Given the description of an element on the screen output the (x, y) to click on. 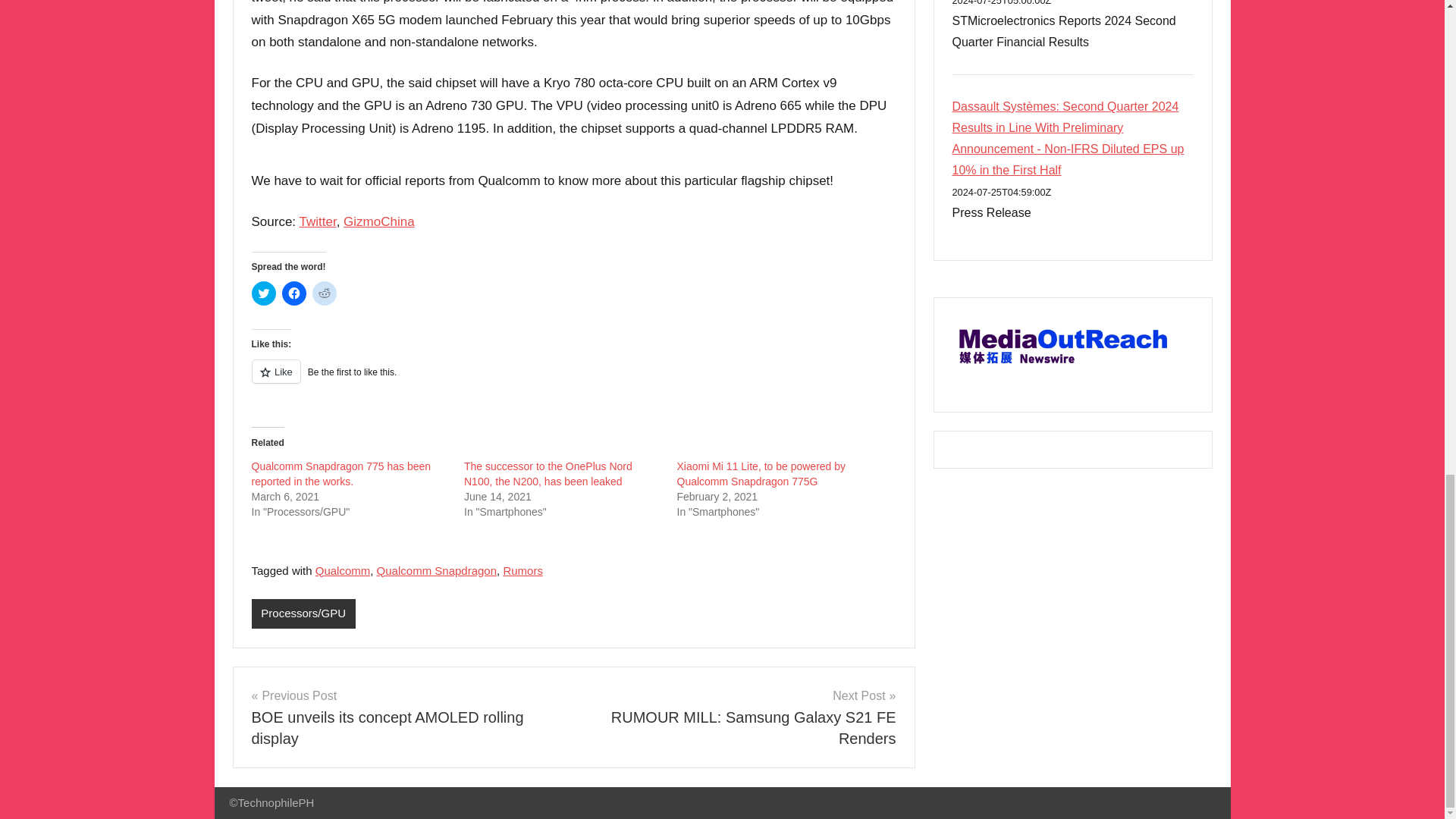
Like or Reblog (573, 380)
Xiaomi Mi 11 Lite, to be powered by Qualcomm Snapdragon 775G (761, 473)
Xiaomi Mi 11 Lite, to be powered by Qualcomm Snapdragon 775G (761, 473)
Click to share on Facebook (293, 293)
Click to share on Reddit (324, 293)
GizmoChina (378, 221)
Twitter (317, 221)
Qualcomm Snapdragon 775 has been reported in the works. (340, 473)
Click to share on Twitter (263, 293)
Qualcomm Snapdragon 775 has been reported in the works. (340, 473)
